Given the description of an element on the screen output the (x, y) to click on. 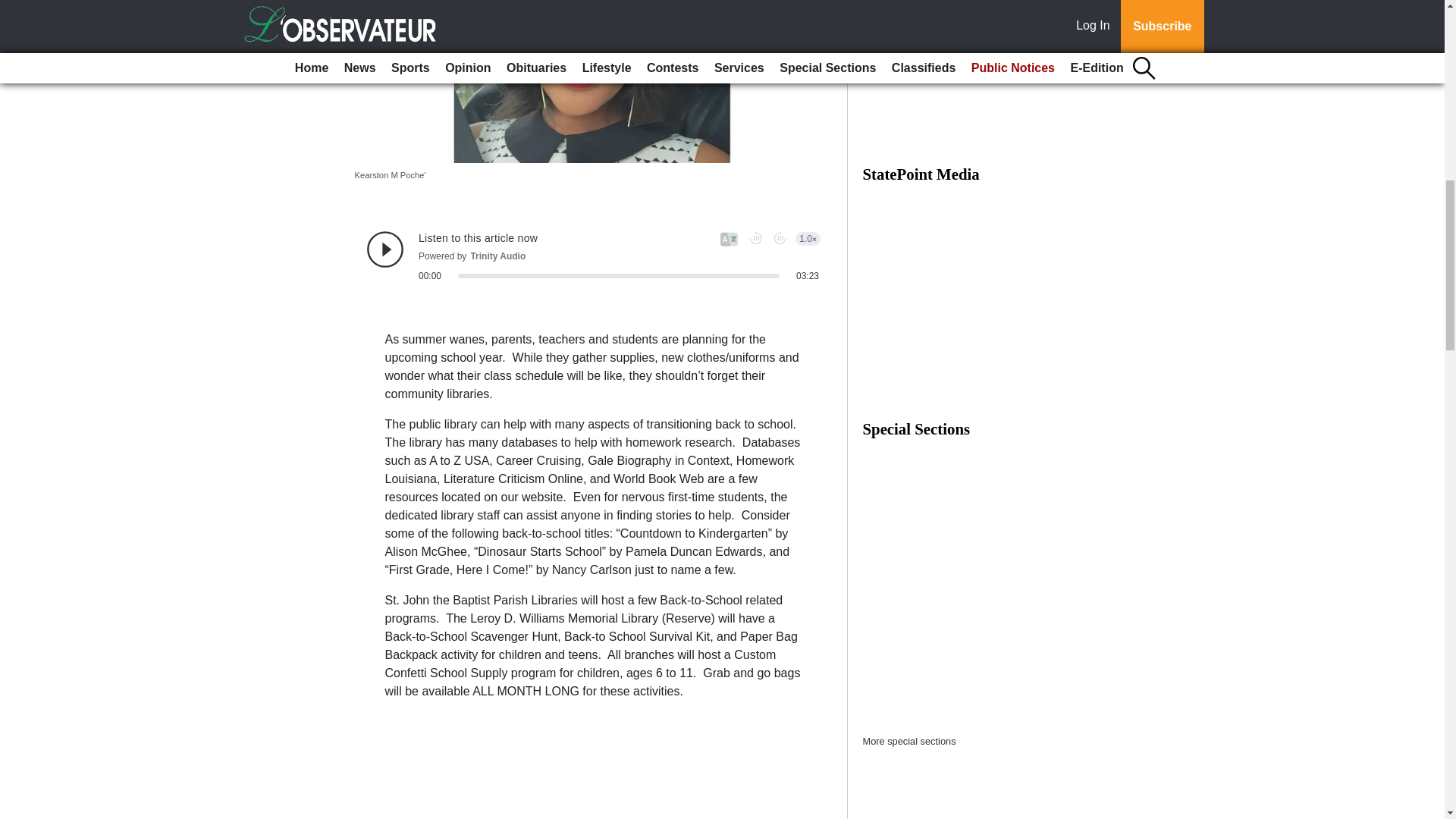
More special sections (909, 740)
Trinity Audio Player (592, 256)
